Given the description of an element on the screen output the (x, y) to click on. 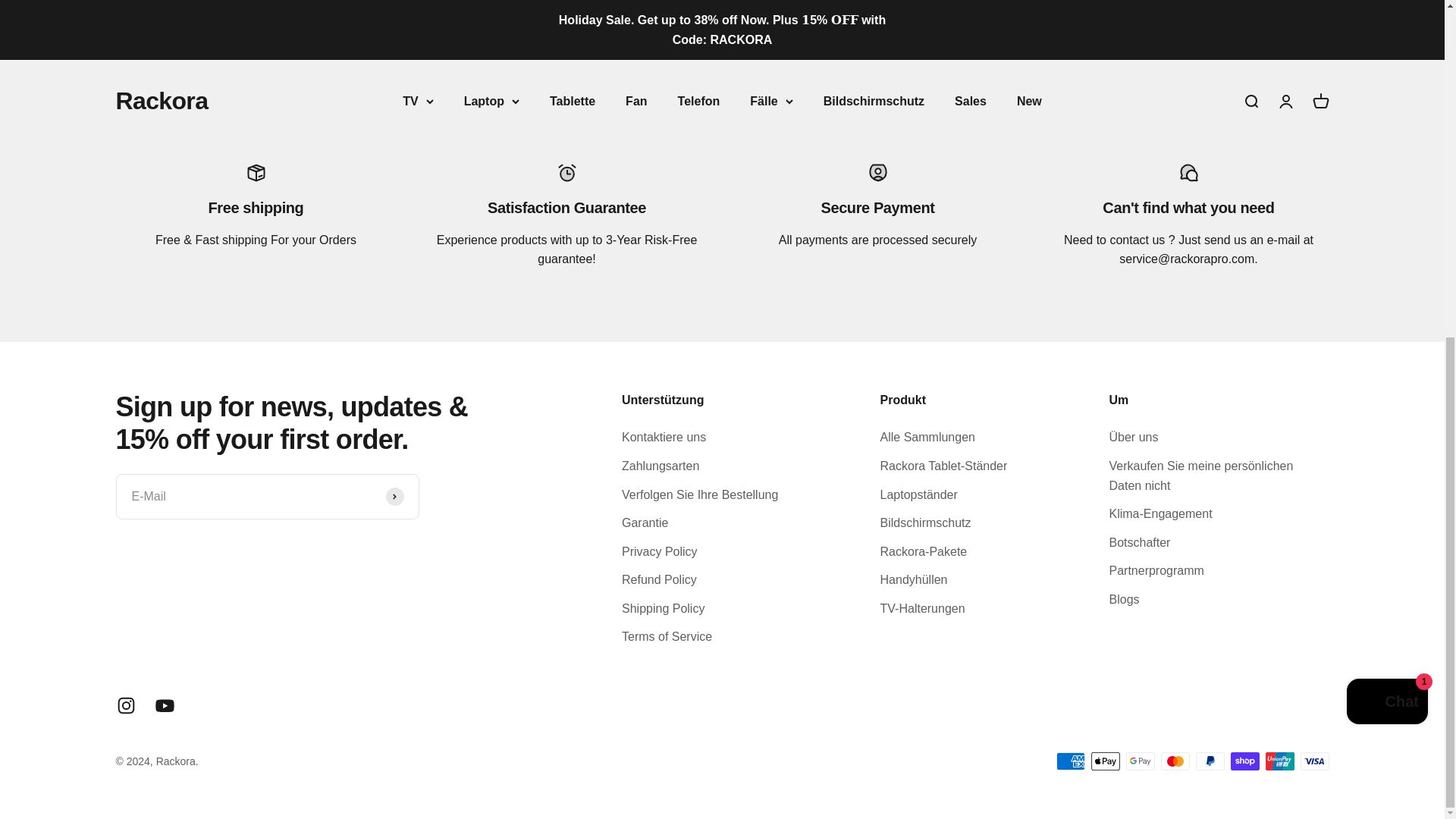
Onlineshop-Chat von Shopify (1387, 133)
